Given the description of an element on the screen output the (x, y) to click on. 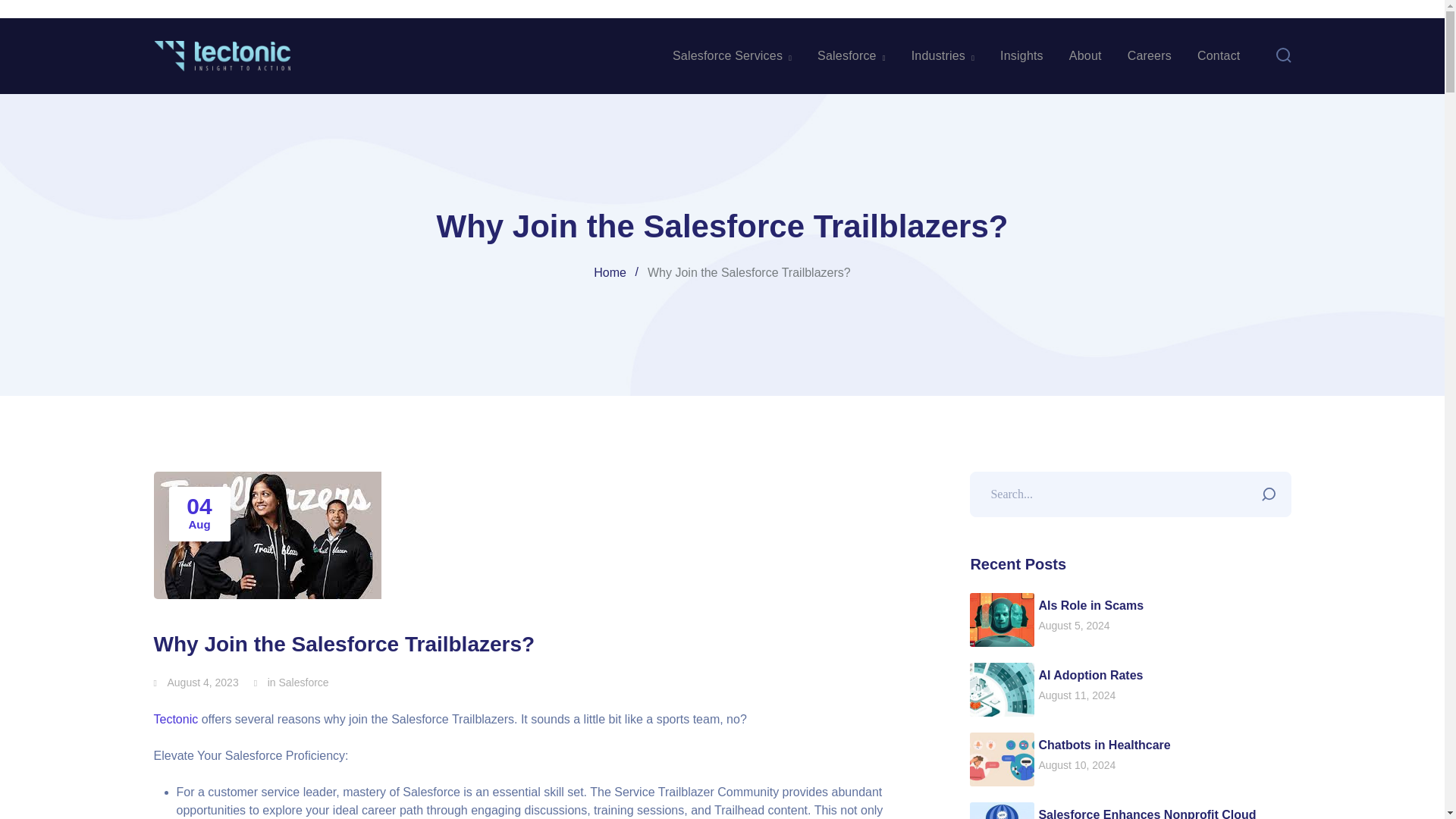
gettectonic.com (220, 54)
Salesforce (850, 56)
Salesforce (303, 682)
Home (620, 272)
Salesforce Services (732, 56)
Tectonic (175, 718)
